Given the description of an element on the screen output the (x, y) to click on. 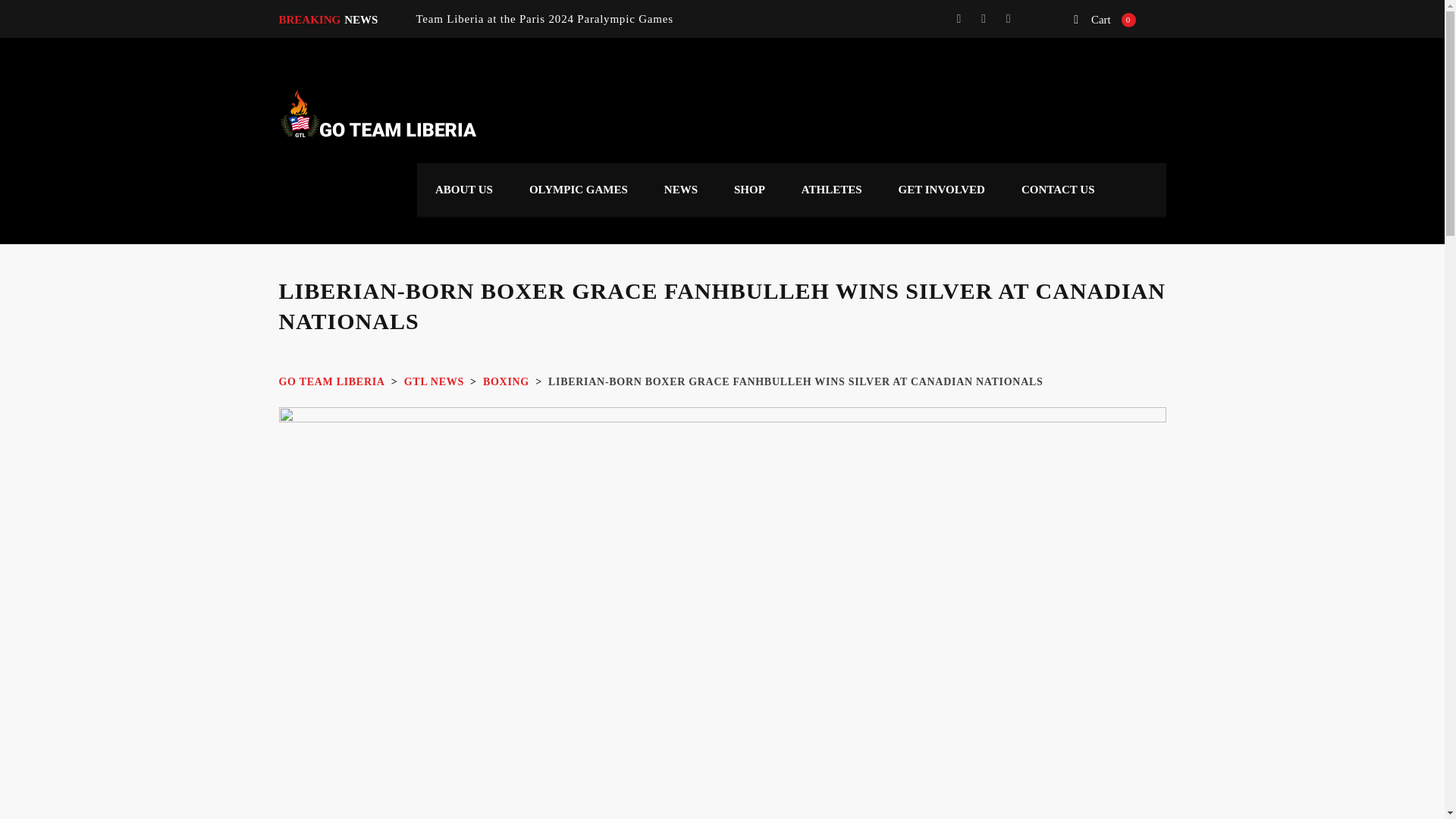
Go to GTL NEWS. (434, 381)
NEWS (681, 189)
Watch shop items (1104, 18)
ABOUT US (463, 189)
OLYMPIC GAMES (578, 189)
Go to Go Team Liberia. (332, 381)
GET INVOLVED (941, 189)
SHOP (749, 189)
CONTACT US (1058, 189)
ATHLETES (831, 189)
